Given the description of an element on the screen output the (x, y) to click on. 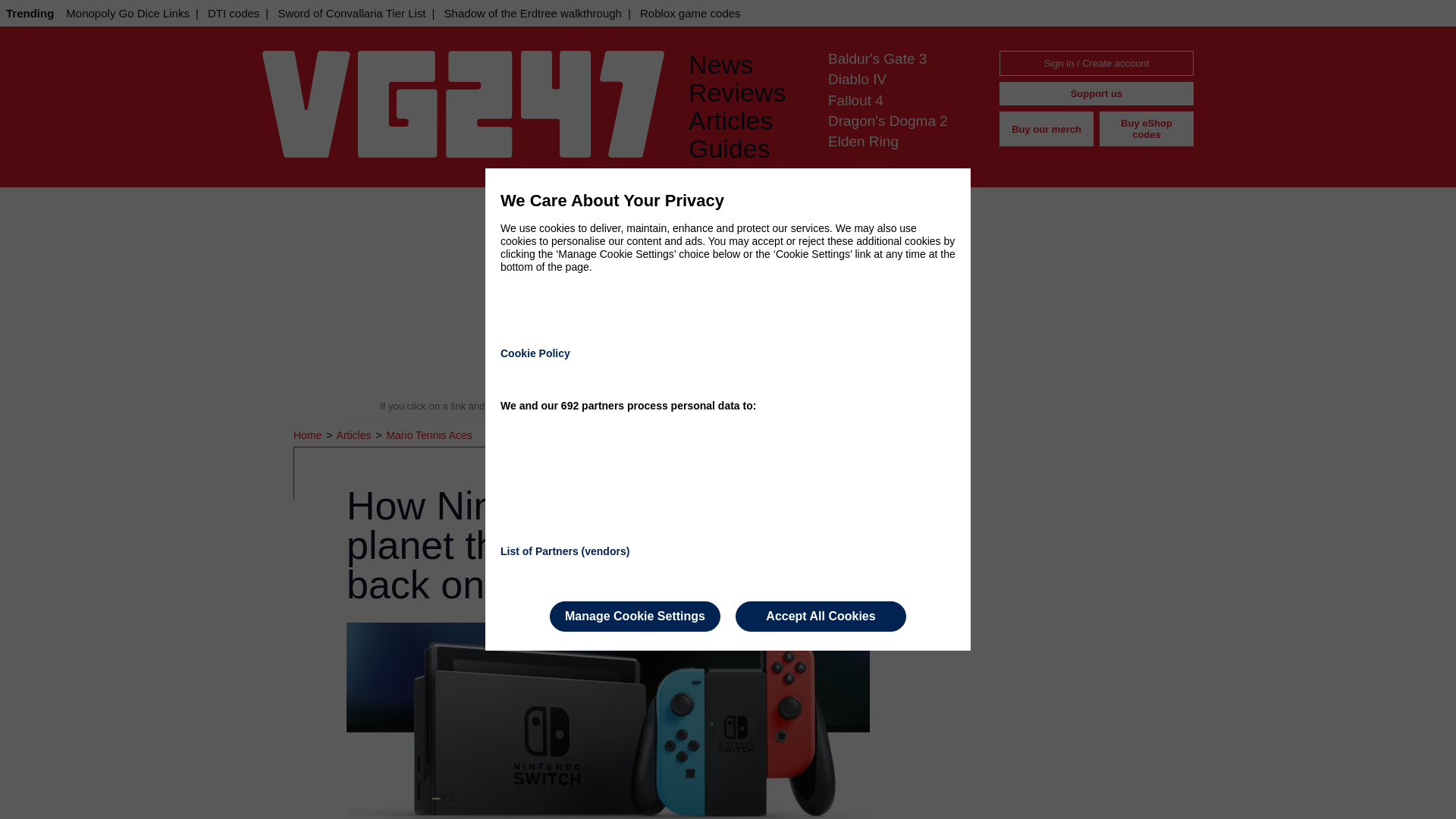
Diablo IV (857, 78)
Baldur's Gate 3 (877, 58)
Fallout 4 (855, 100)
Baldur's Gate 3 (877, 58)
Reviews (745, 92)
Monopoly Go Dice Links (127, 13)
Read our editorial policy (781, 405)
Diablo IV (857, 78)
Articles (745, 121)
Elden Ring (863, 141)
